Given the description of an element on the screen output the (x, y) to click on. 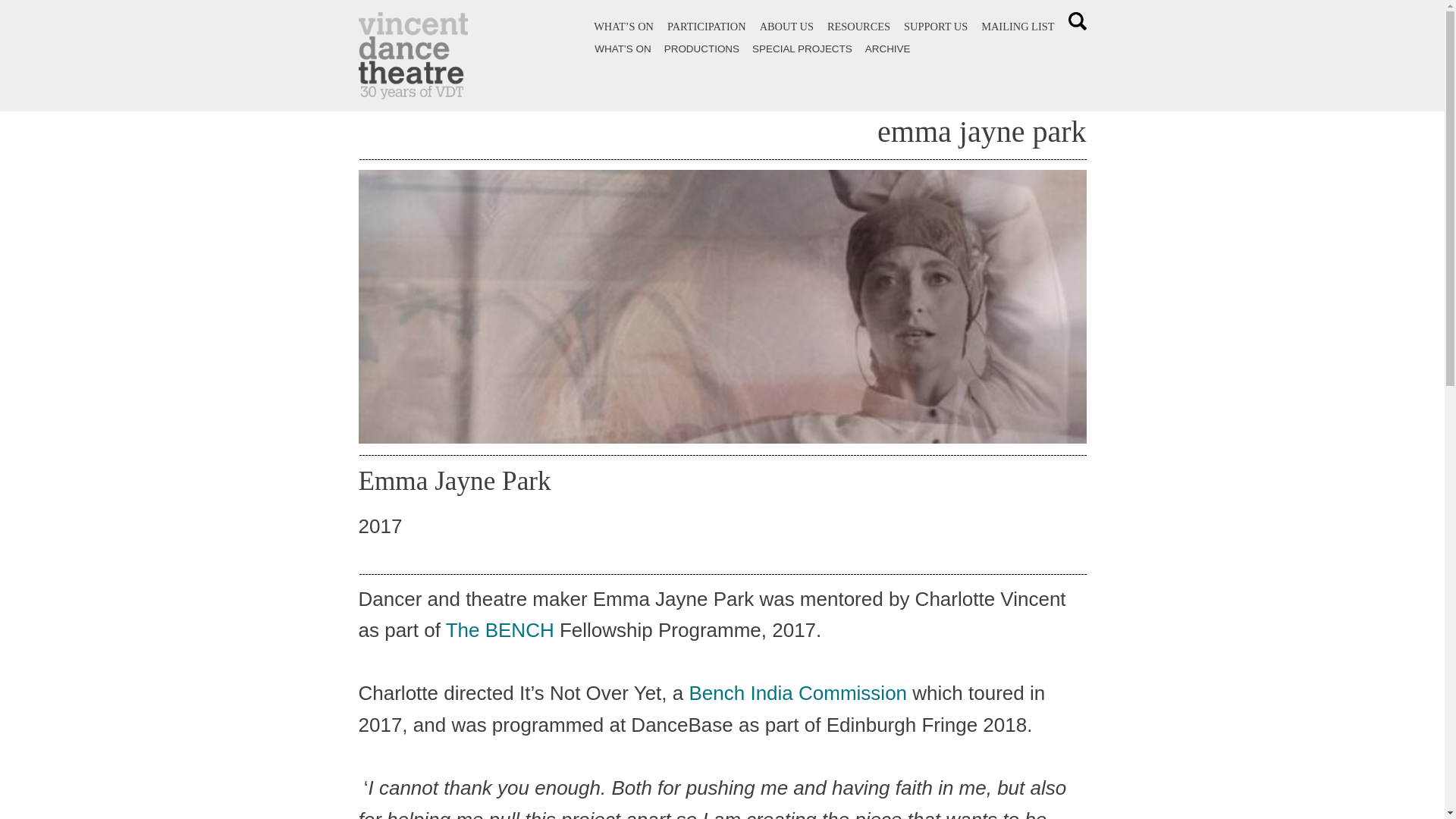
MAILING LIST (1017, 26)
PARTICIPATION (705, 26)
ARCHIVE (887, 48)
SPECIAL PROJECTS (801, 48)
SUPPORT US (936, 26)
The BENCH (499, 630)
Bench India Commission (797, 692)
RESOURCES (858, 26)
ABOUT US (786, 26)
PRODUCTIONS (701, 48)
